Given the description of an element on the screen output the (x, y) to click on. 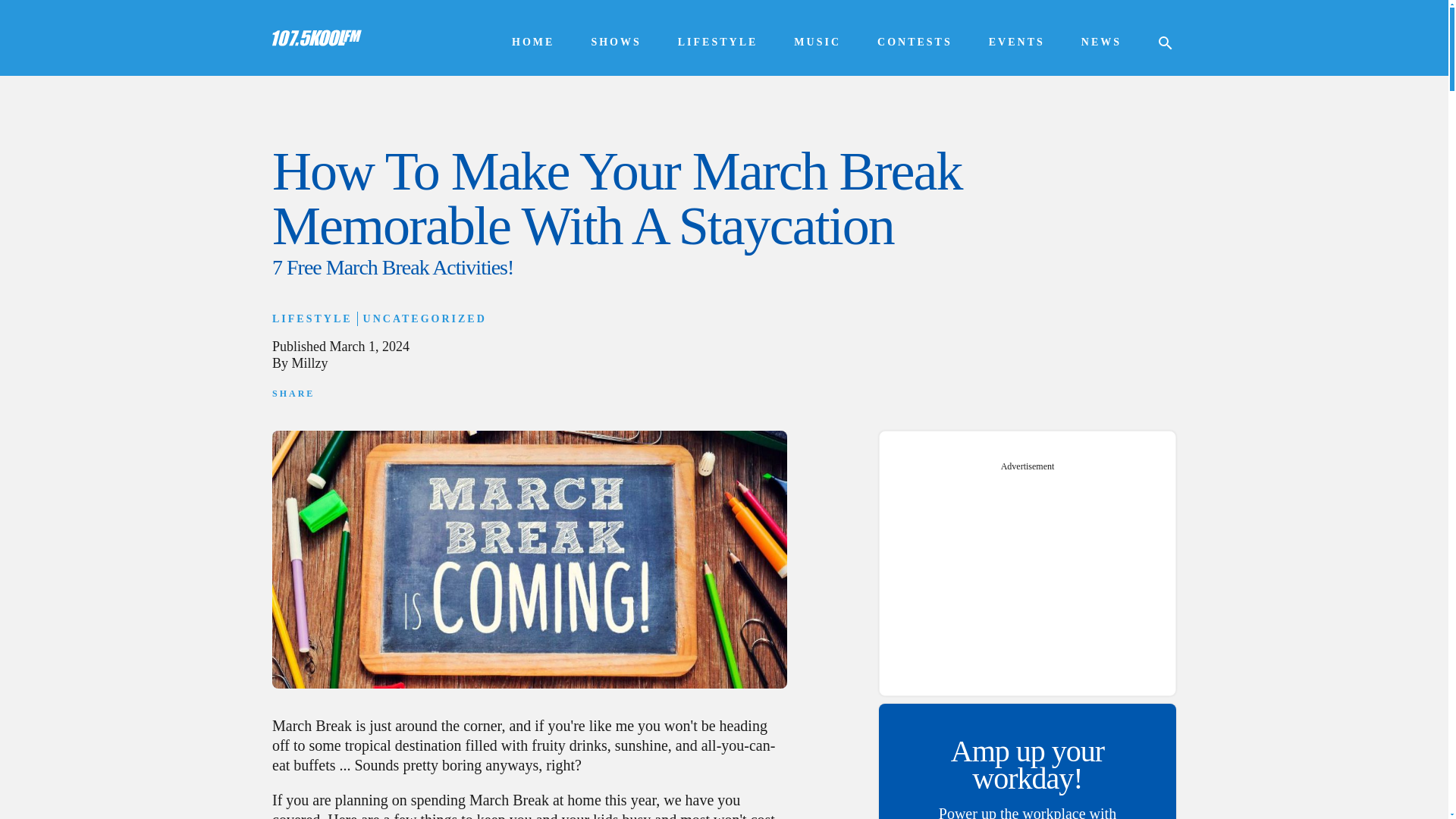
MUSIC (817, 42)
EVENTS (1016, 42)
Millzy (310, 362)
View all posts in Uncategorized (424, 318)
LIFESTYLE (312, 318)
NEWS (1101, 42)
UNCATEGORIZED (424, 318)
HOME (533, 42)
SHARE (293, 393)
CONTESTS (914, 42)
SHOWS (615, 42)
Search (29, 11)
View all posts in Lifestyle (312, 318)
LIFESTYLE (718, 42)
